Given the description of an element on the screen output the (x, y) to click on. 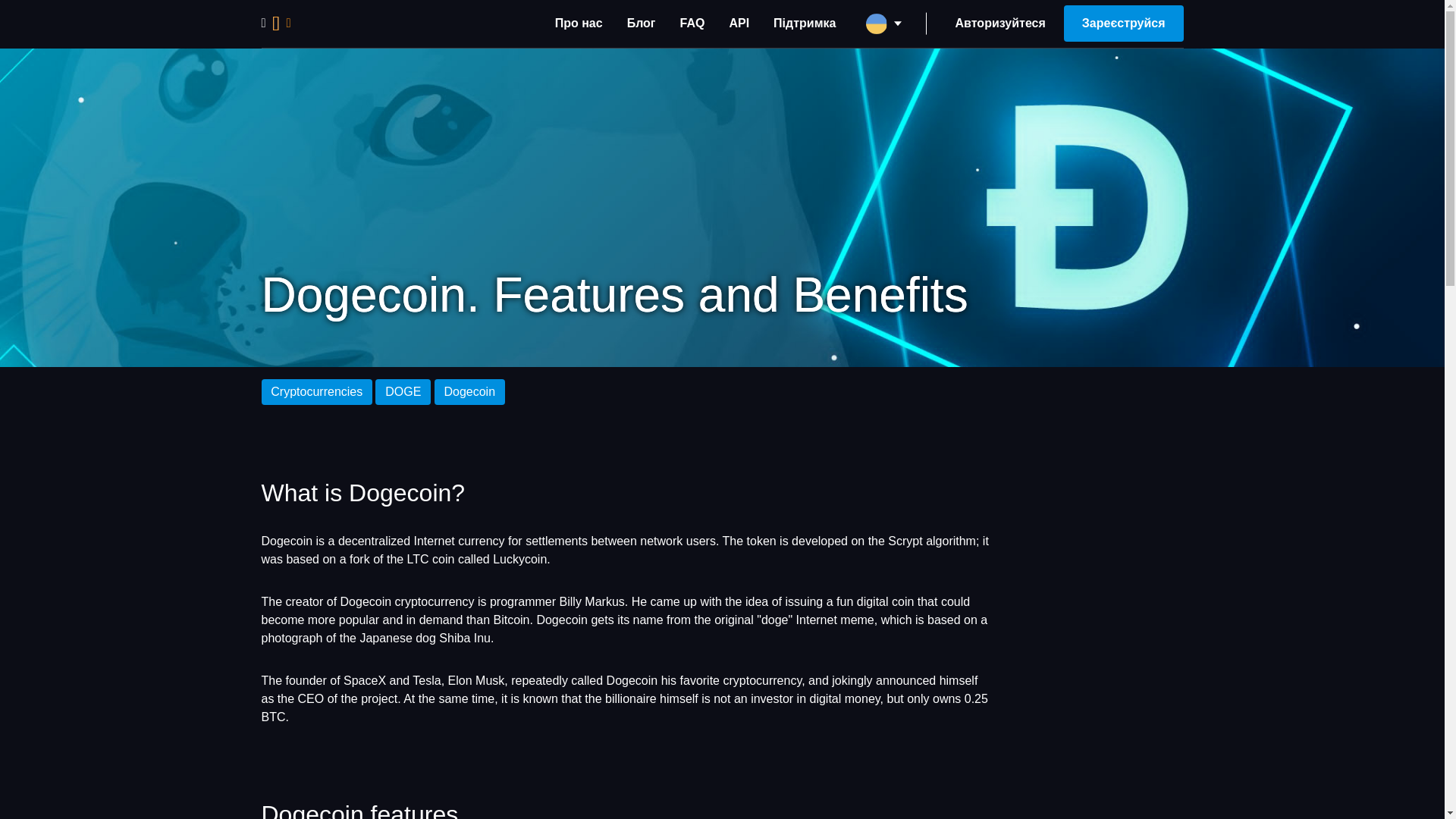
Dogecoin (469, 391)
DOGE (402, 391)
API (738, 23)
Cryptocurrencies (316, 391)
FAQ (692, 23)
